Given the description of an element on the screen output the (x, y) to click on. 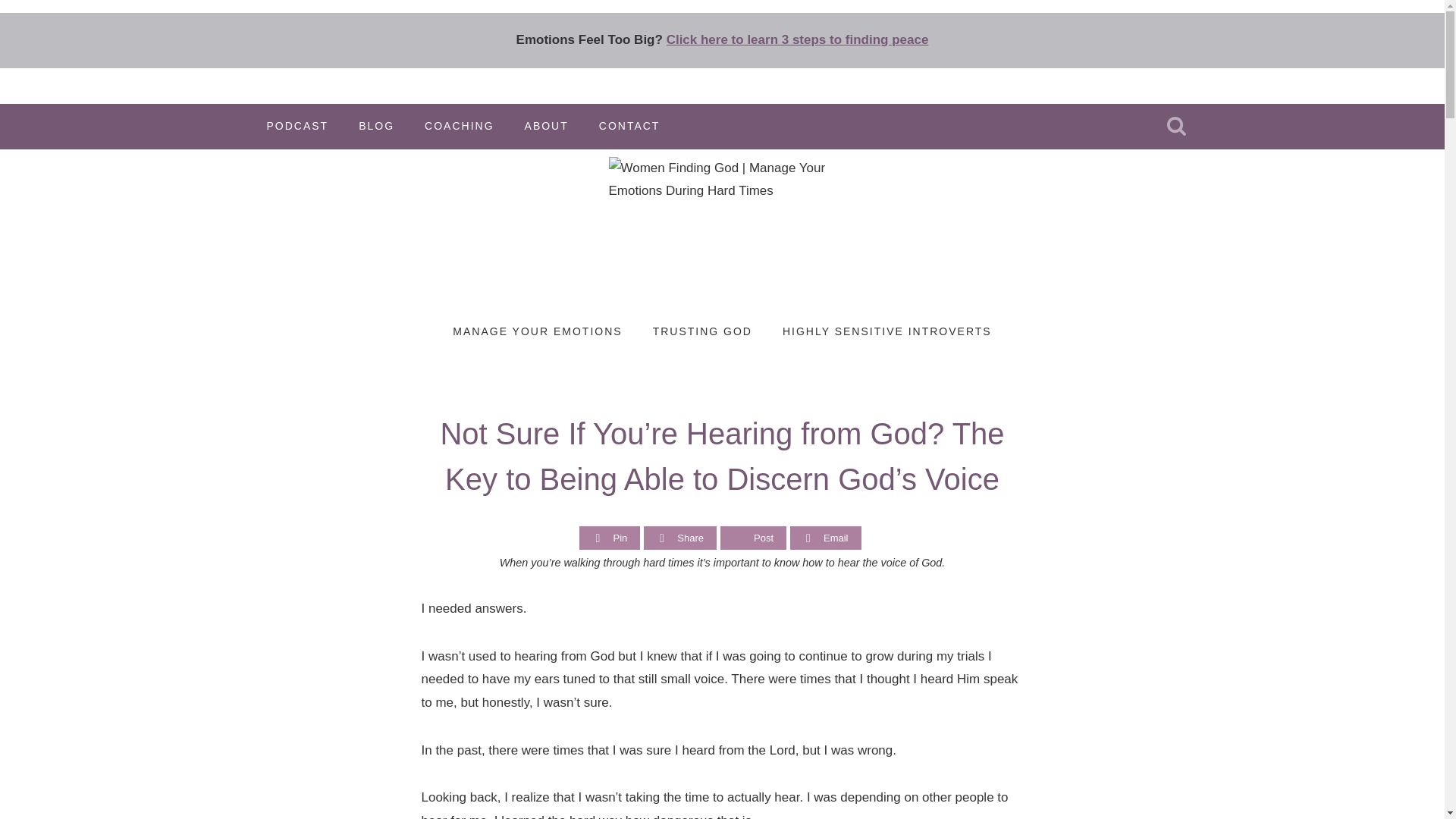
Click here to learn 3 steps to finding peace (797, 39)
HIGHLY SENSITIVE INTROVERTS (887, 331)
Email (825, 537)
BLOG (376, 126)
Share (680, 537)
MANAGE YOUR EMOTIONS (537, 331)
CONTACT (629, 126)
PODCAST (297, 126)
TRUSTING GOD (702, 331)
Pin (609, 537)
